Given the description of an element on the screen output the (x, y) to click on. 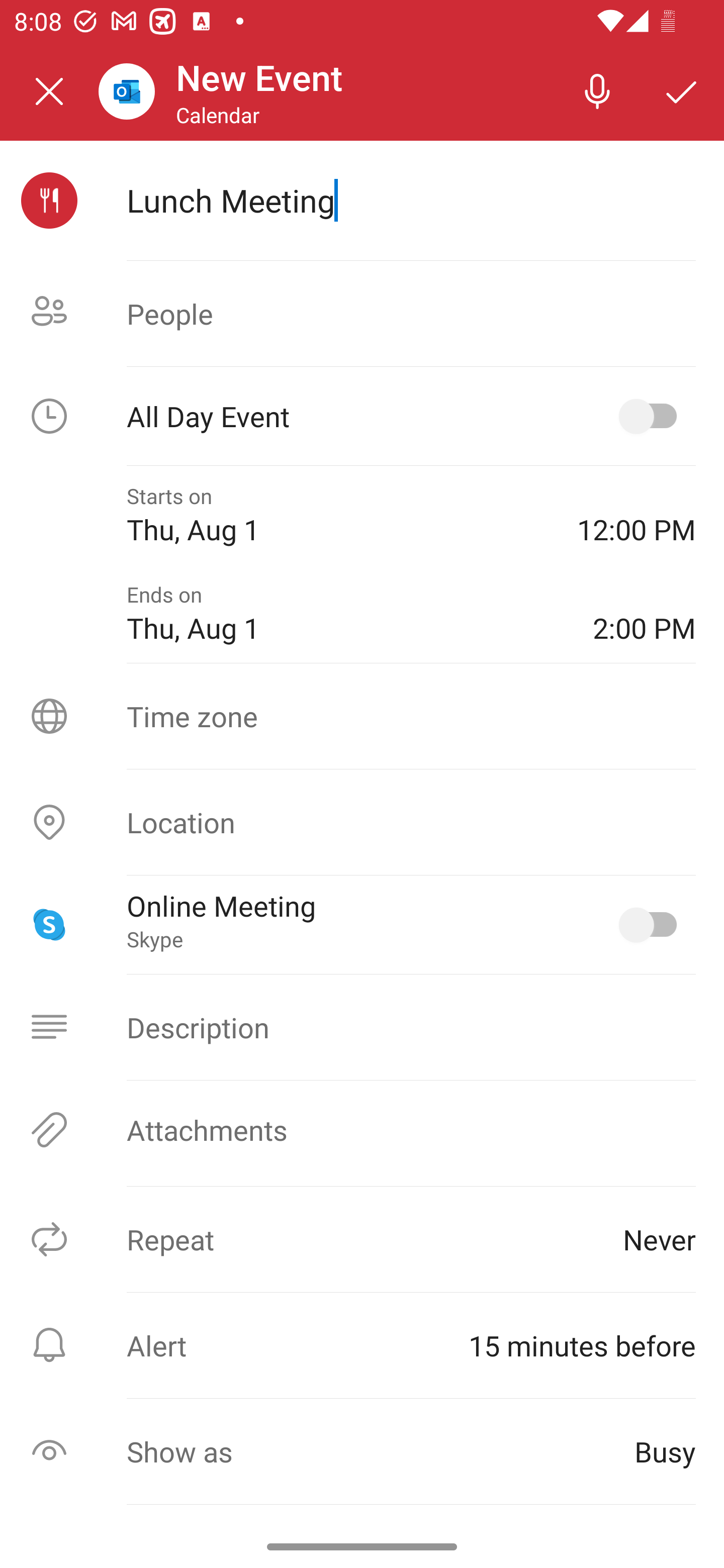
Close (49, 91)
Save (681, 90)
Lunch Meeting (410, 200)
lunch selected, event icon picker (48, 200)
People (362, 313)
All Day Event (362, 415)
Starts on Thu, Aug 1 (337, 514)
12:00 PM (636, 514)
Ends on Thu, Aug 1 (345, 613)
2:00 PM (644, 613)
Time zone (362, 715)
Location (362, 821)
Online Meeting, Skype selected (651, 923)
Description (362, 1026)
Attachments (362, 1129)
Repeat Never (362, 1239)
Alert ⁨15 minutes before (362, 1345)
Show as Busy (362, 1450)
